Given the description of an element on the screen output the (x, y) to click on. 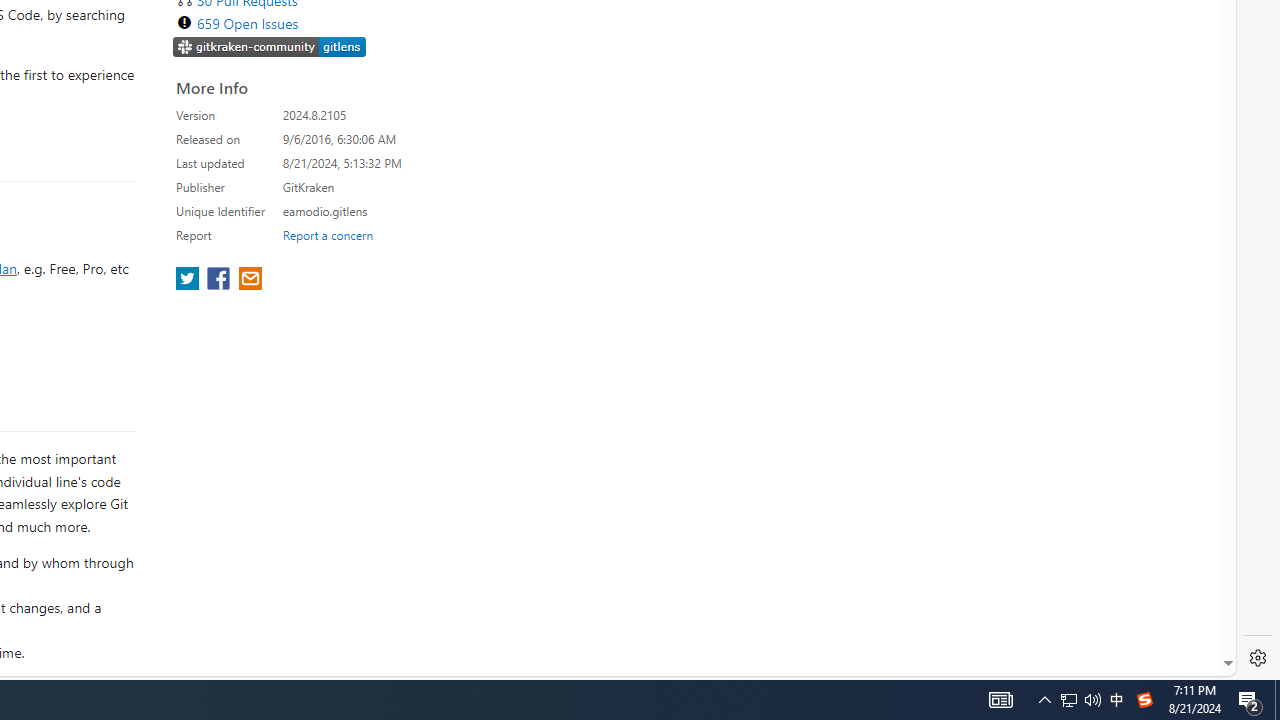
https://slack.gitkraken.com// (269, 46)
share extension on facebook (220, 280)
share extension on twitter (190, 280)
Report a concern (327, 234)
share extension on email (249, 280)
https://slack.gitkraken.com// (269, 48)
